Given the description of an element on the screen output the (x, y) to click on. 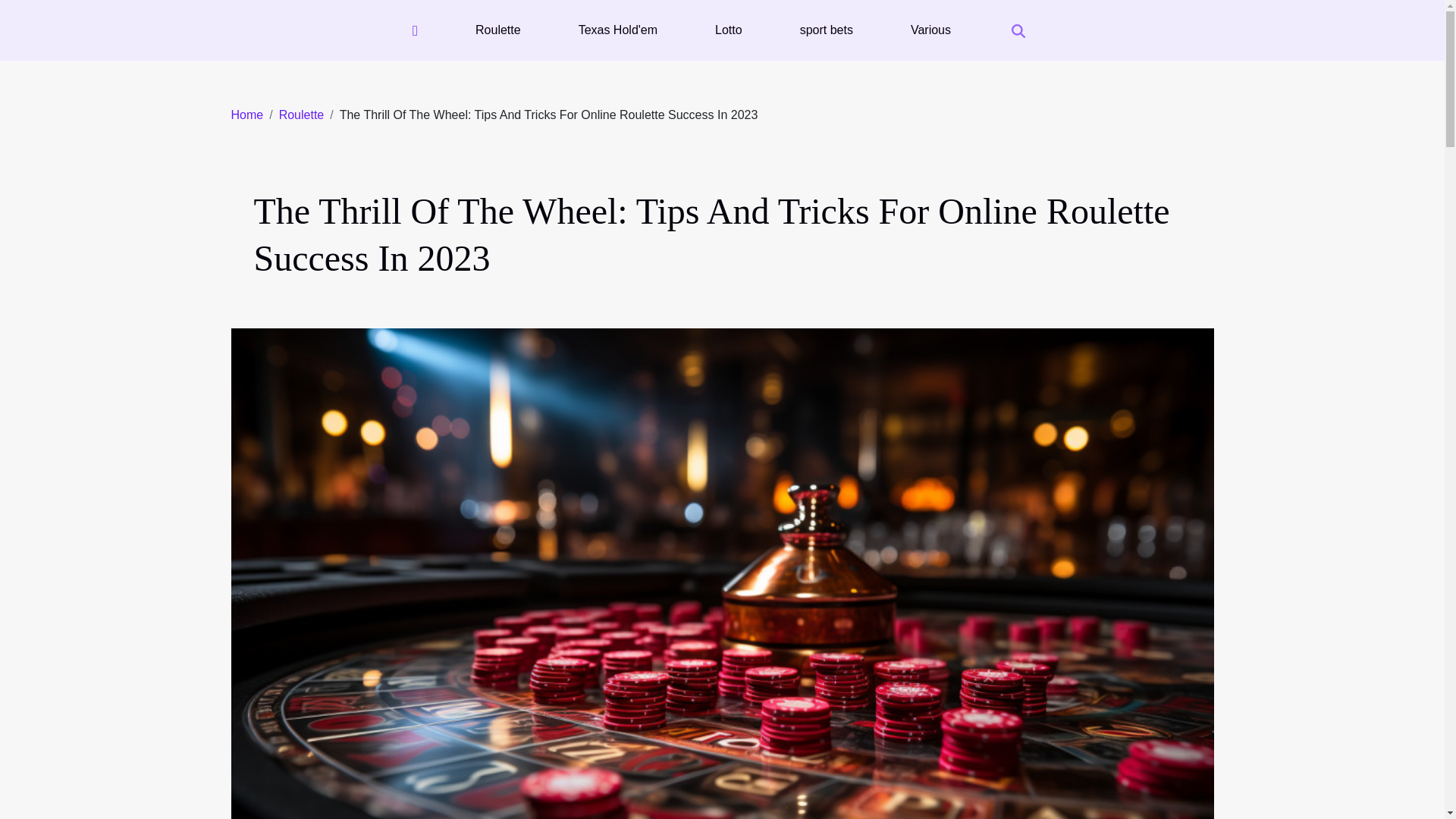
Roulette (497, 30)
Roulette (301, 114)
Roulette (301, 114)
sport bets (826, 30)
Home (246, 114)
Various (930, 30)
Lotto (728, 30)
Texas Hold'em (617, 30)
